Given the description of an element on the screen output the (x, y) to click on. 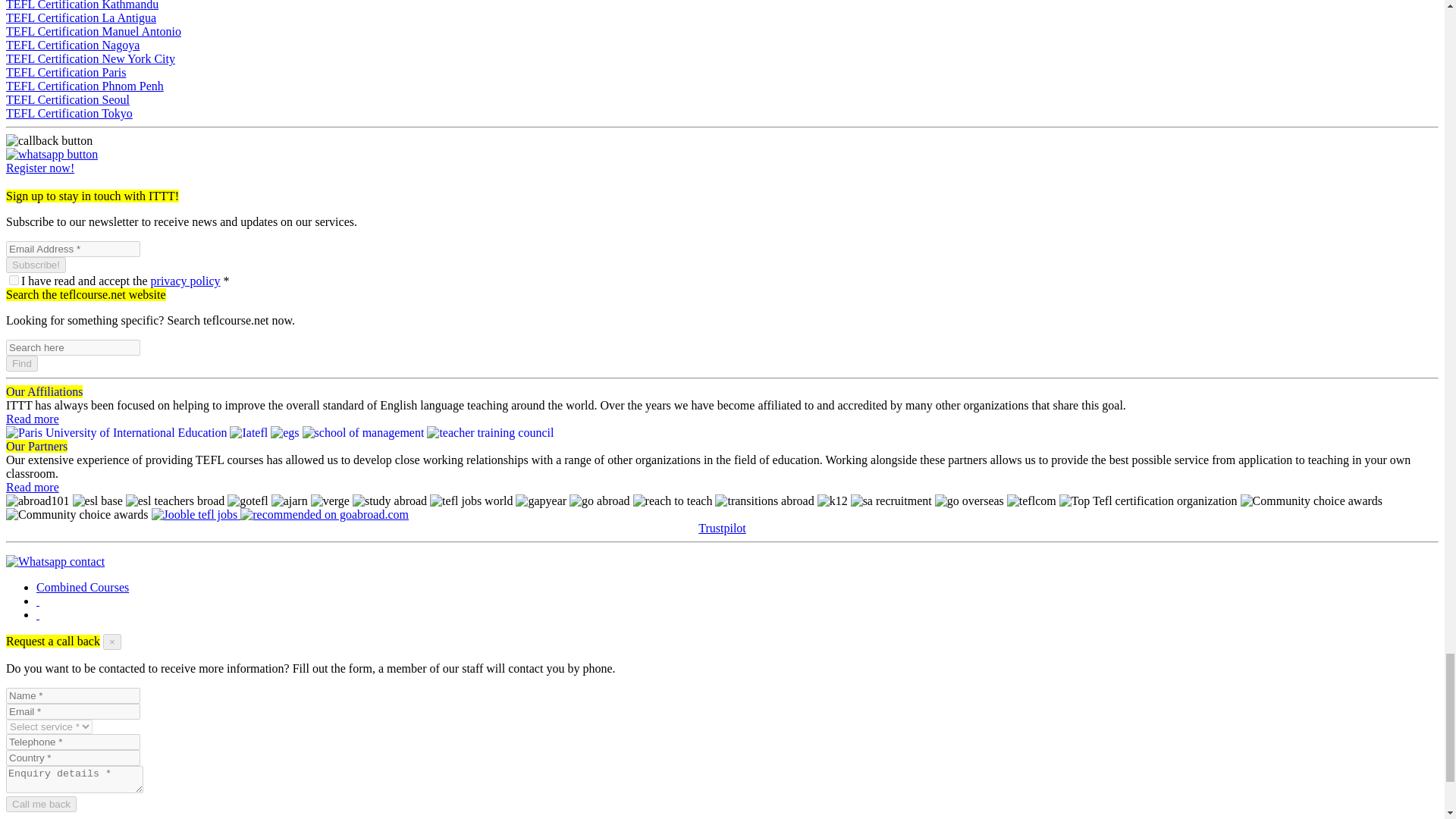
teacher training council (489, 432)
egs (284, 432)
1 (13, 280)
school of management (363, 432)
Iatefl (248, 432)
Paris University of International Education (116, 432)
